Given the description of an element on the screen output the (x, y) to click on. 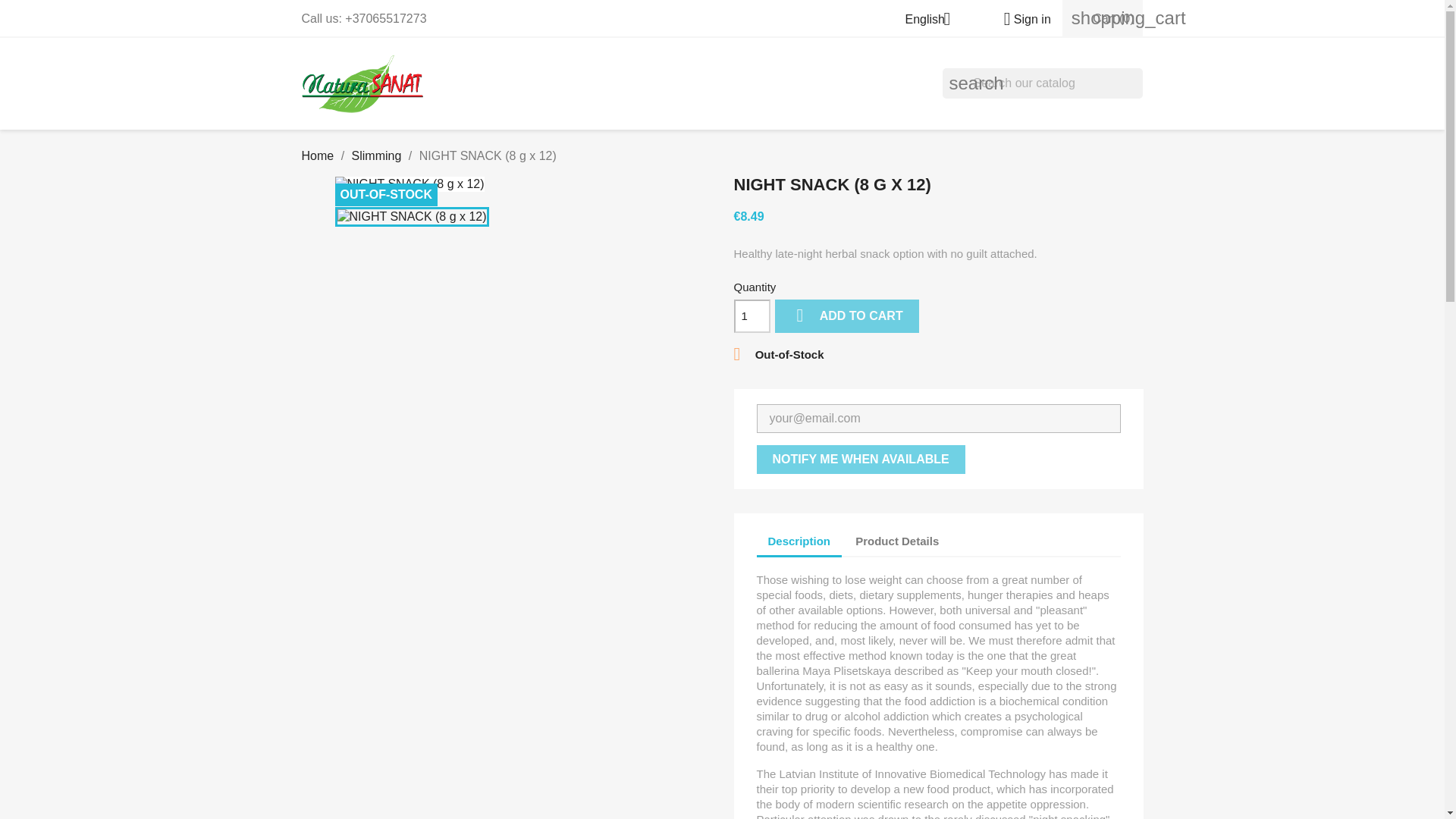
NOTIFY ME WHEN AVAILABLE (861, 459)
1 (751, 315)
Log in to your customer account (1020, 19)
Product Details (897, 541)
Description (800, 542)
Home (317, 155)
Slimming (376, 155)
